Given the description of an element on the screen output the (x, y) to click on. 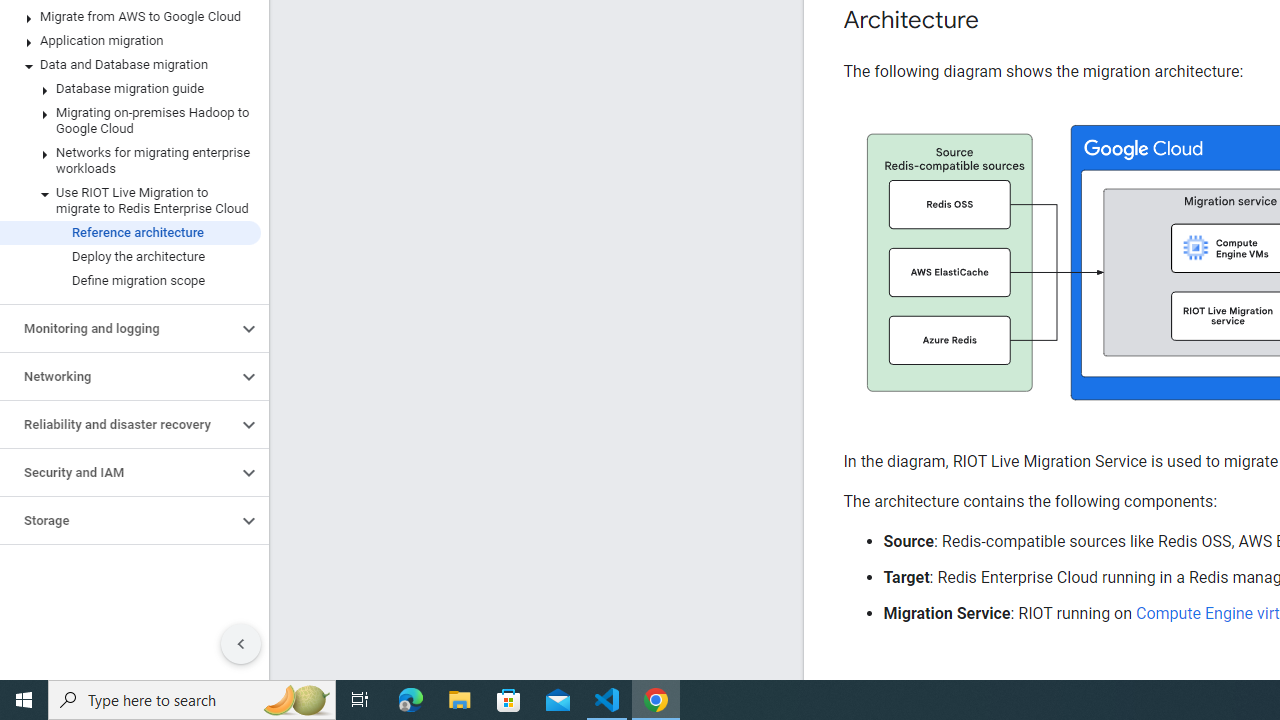
Database migration guide (130, 88)
Storage (118, 520)
Copy link to this section: Architecture (997, 20)
